Given the description of an element on the screen output the (x, y) to click on. 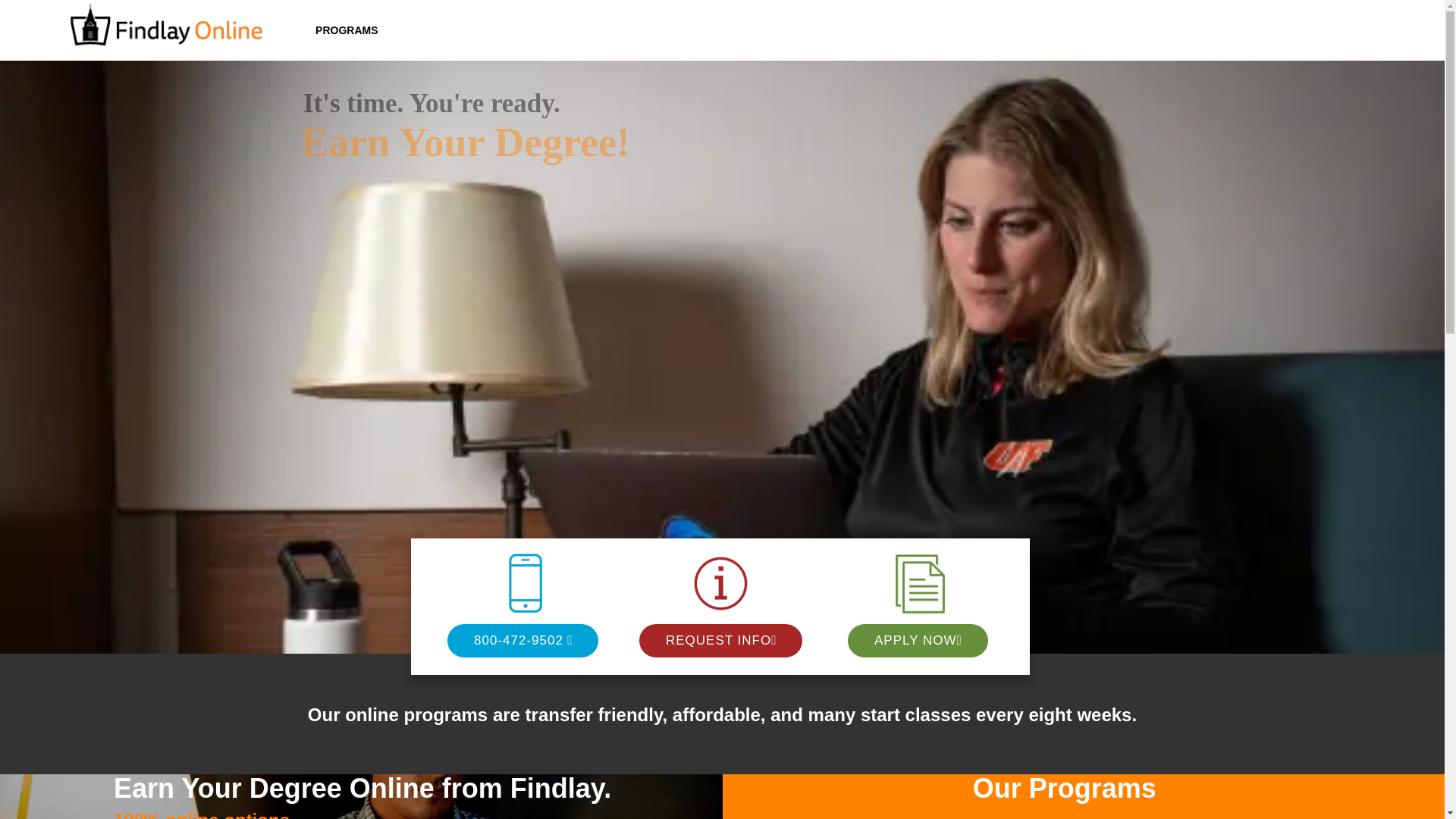
PROGRAMS (346, 30)
800-472-9502 (518, 640)
APPLY NOW (915, 640)
REQUEST INFO (718, 640)
